Given the description of an element on the screen output the (x, y) to click on. 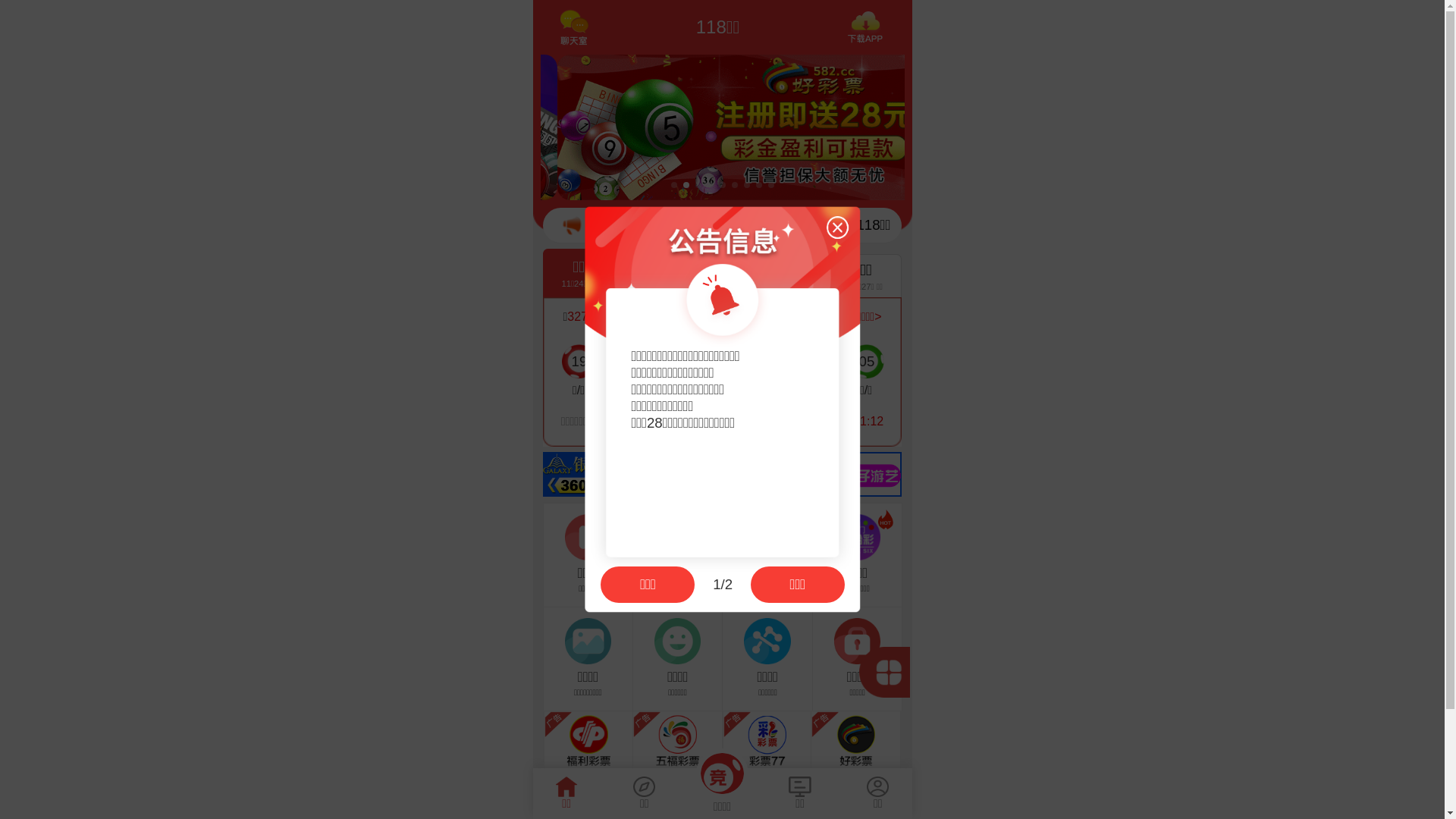
12306 Element type: text (605, 528)
